Given the description of an element on the screen output the (x, y) to click on. 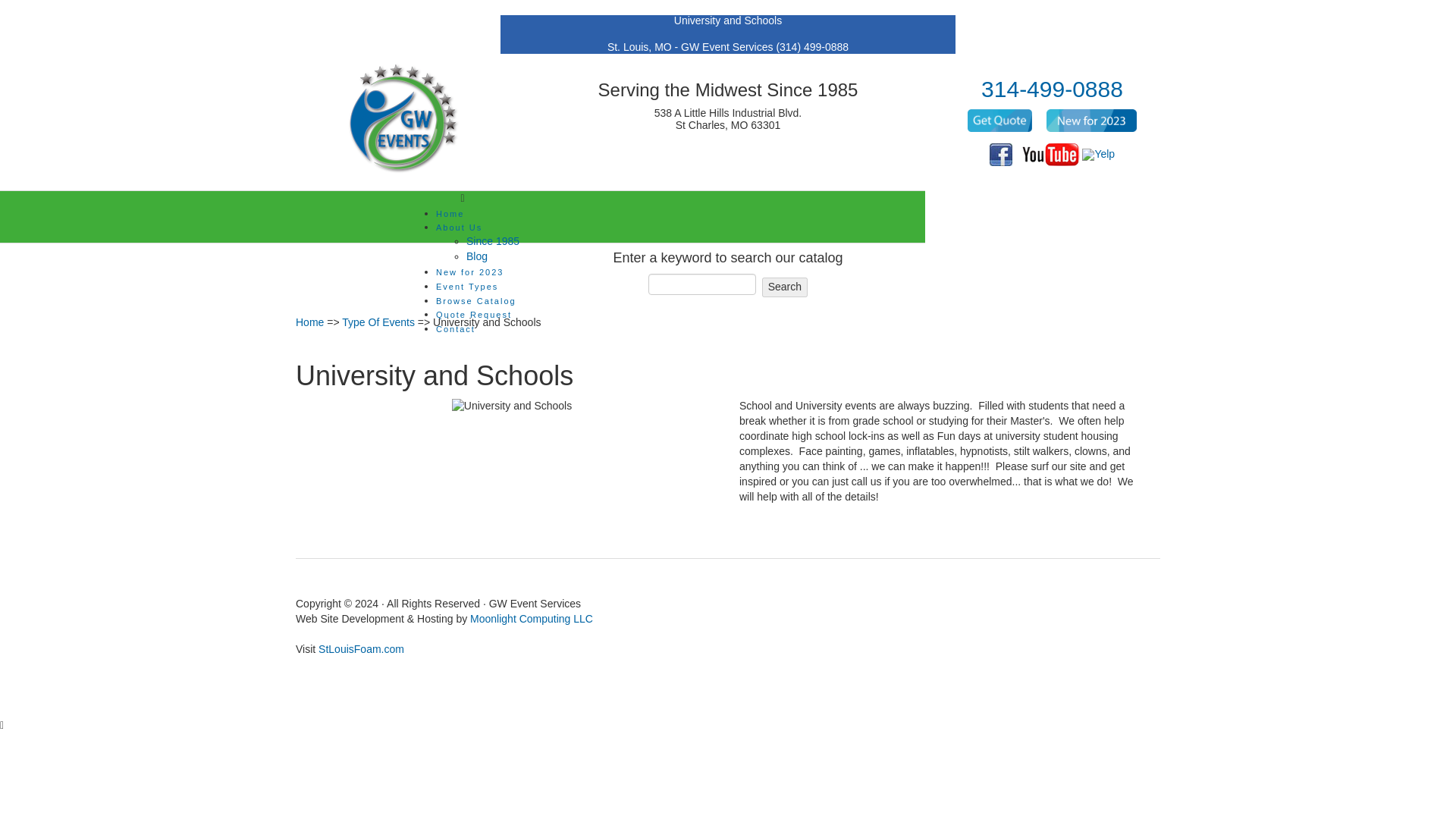
Blog (492, 256)
StLouisFoam.com (361, 648)
Home (477, 214)
Contact Game World Events by Phone (1051, 88)
Browse Catalog (477, 301)
Since 1985 (492, 241)
Moonlight Computing LLC (618, 625)
Contact (477, 329)
Quote Request (477, 315)
Home (309, 322)
St Louis Foam (361, 648)
Search (784, 287)
Event Types (477, 287)
Search (784, 287)
Game World Events Home (403, 117)
